Given the description of an element on the screen output the (x, y) to click on. 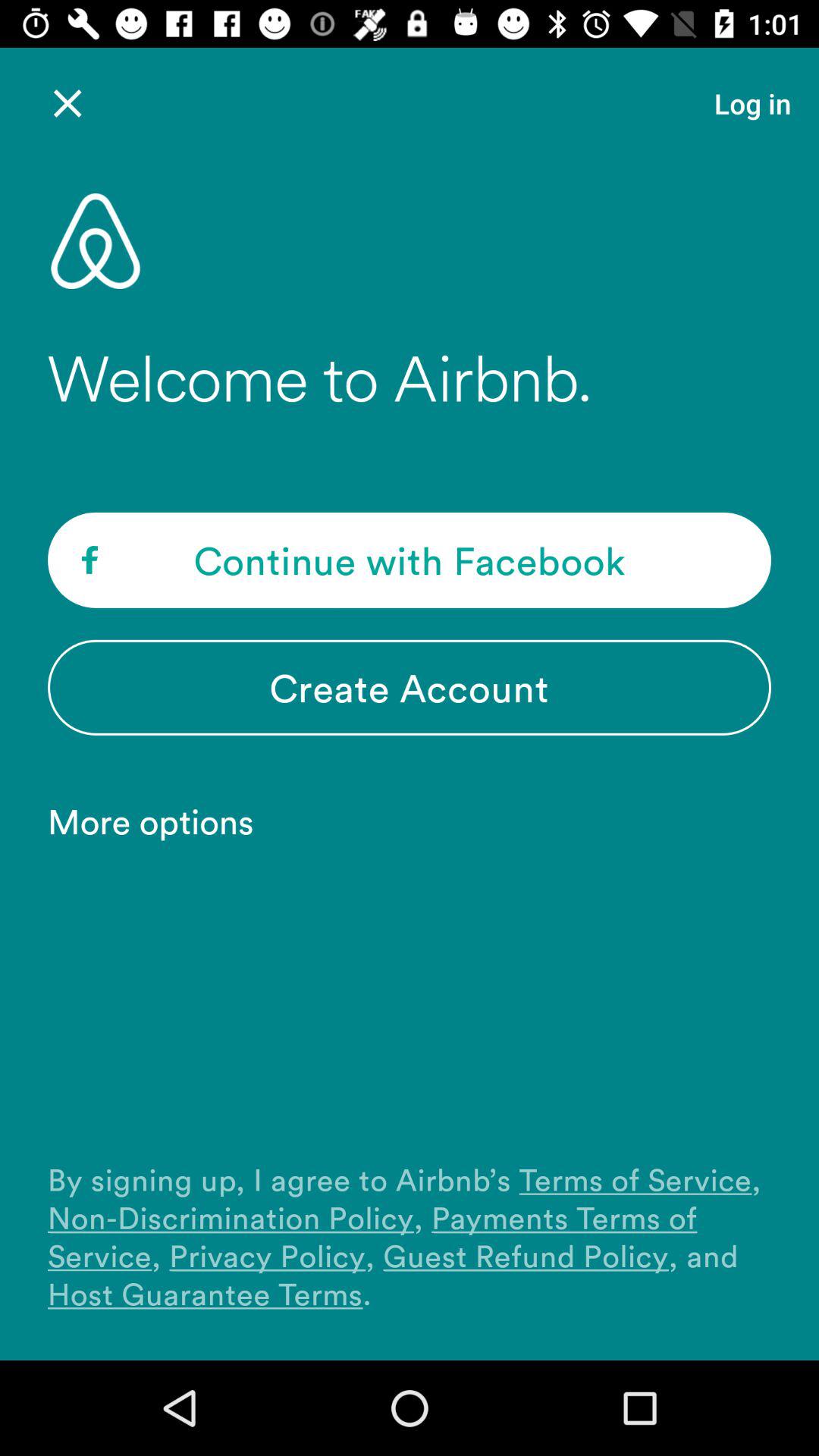
press by signing up icon (409, 1235)
